Given the description of an element on the screen output the (x, y) to click on. 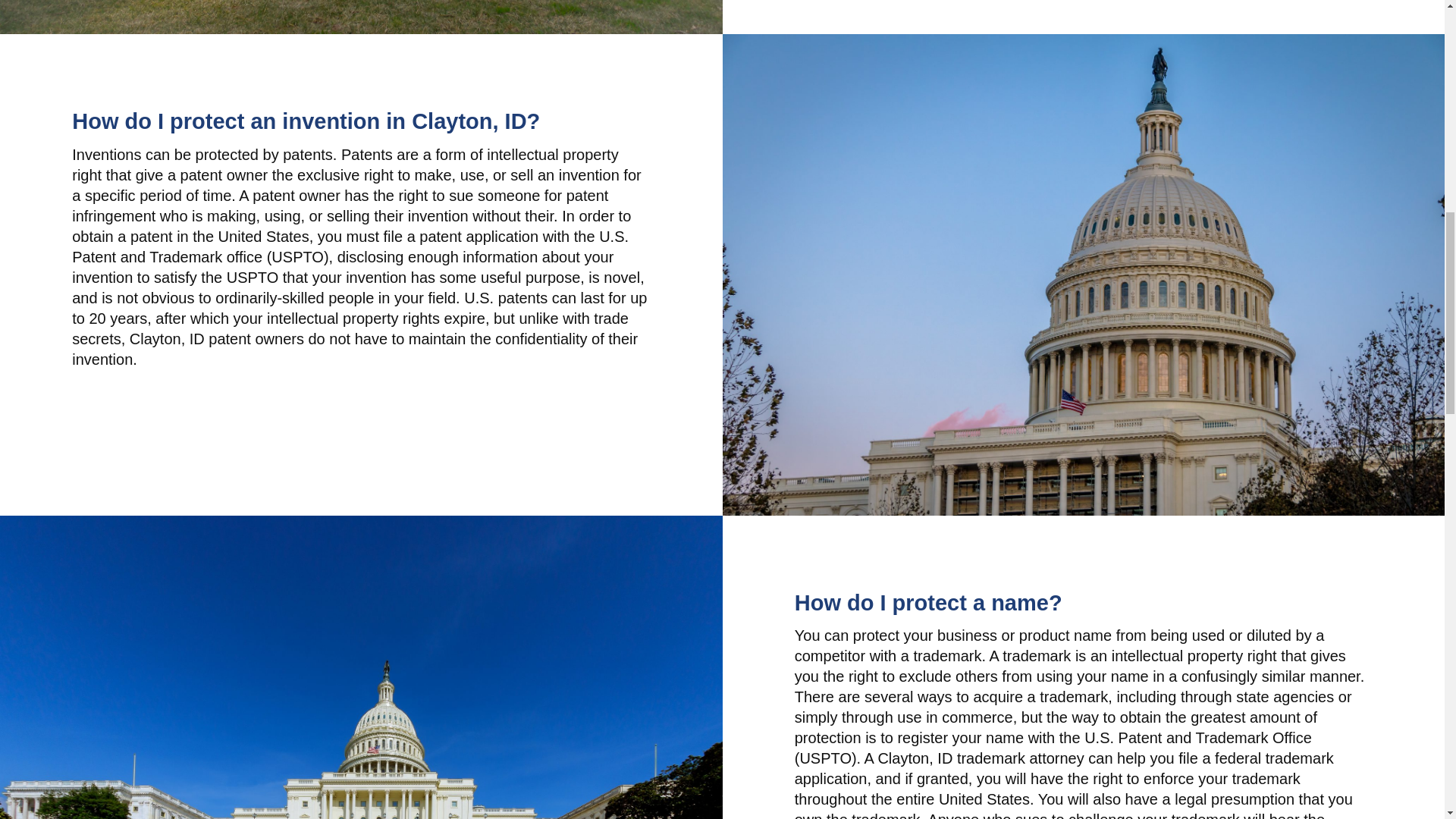
Clayton  Area Professional SEO Services (361, 16)
